Given the description of an element on the screen output the (x, y) to click on. 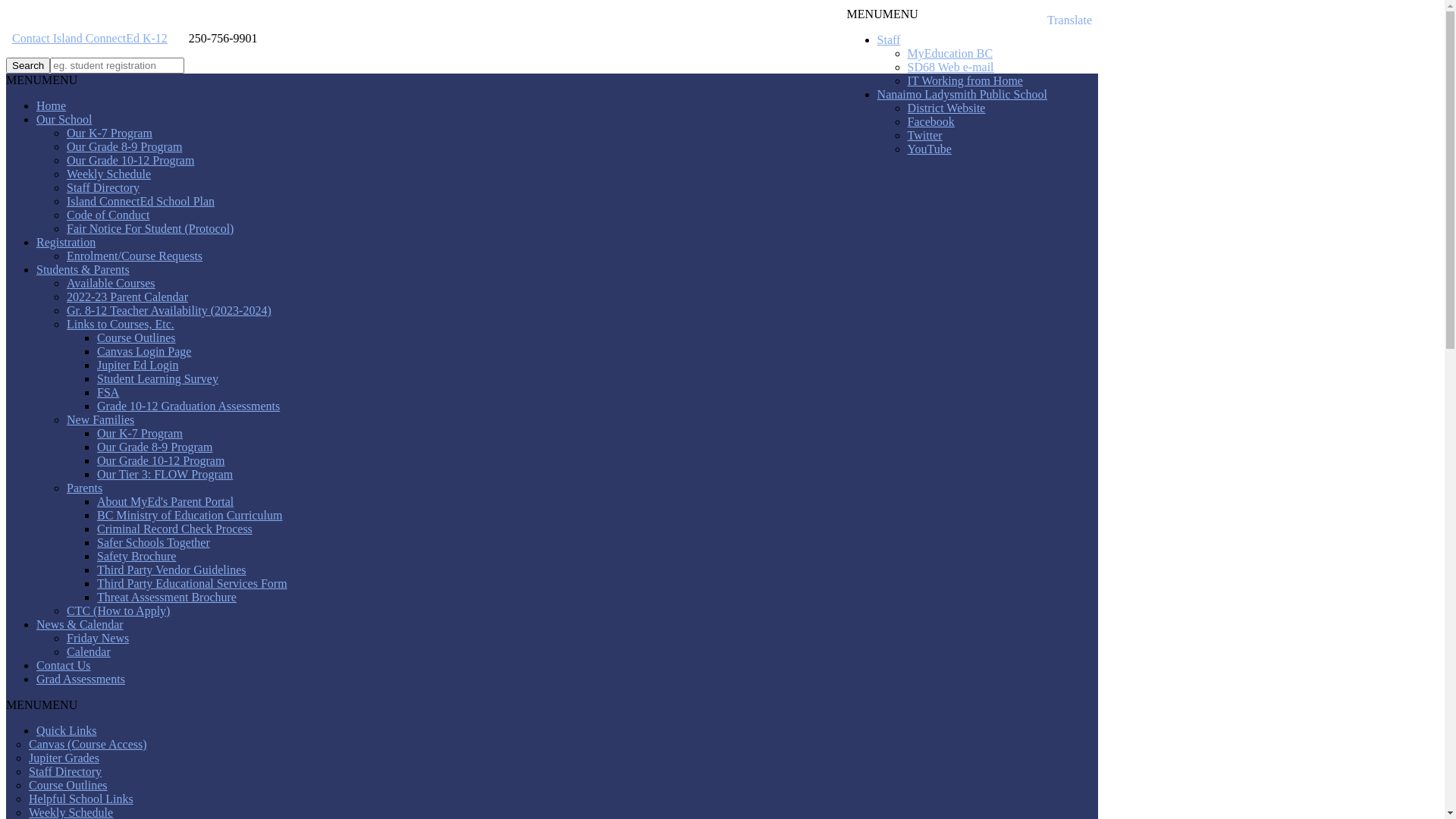
Helpful School Links Element type: text (80, 798)
Registration Element type: text (65, 241)
District Website Element type: text (946, 107)
Safer Schools Together Element type: text (153, 542)
News & Calendar Element type: text (79, 624)
Links to Courses, Etc. Element type: text (120, 323)
Fair Notice For Student (Protocol) Element type: text (149, 228)
Contact Us Element type: text (63, 664)
Friday News Element type: text (97, 637)
Facebook Element type: text (930, 121)
Safety Brochure Element type: text (136, 555)
Nanaimo Ladysmith Public School Element type: text (962, 93)
YouTube Element type: text (929, 148)
Quick Links Element type: text (66, 730)
About MyEd's Parent Portal Element type: text (165, 501)
Staff Directory Element type: text (64, 771)
CTC (How to Apply) Element type: text (117, 610)
Enrolment/Course Requests Element type: text (134, 255)
IT Working from Home Element type: text (964, 80)
Students & Parents Element type: text (82, 269)
FSA Element type: text (108, 391)
Third Party Educational Services Form Element type: text (192, 583)
New Families Element type: text (100, 419)
SD68 Web e-mail Element type: text (950, 66)
Grad Assessments Element type: text (80, 678)
Our Grade 8-9 Program Element type: text (124, 146)
Twitter Element type: text (924, 134)
Island ConnectEd School Plan Element type: text (140, 200)
Staff Directory Element type: text (102, 187)
Our K-7 Program Element type: text (139, 432)
MyEducation BC Element type: text (949, 53)
Translate   Element type: text (1072, 20)
Home Element type: text (50, 105)
Jupiter Ed Login Element type: text (137, 364)
2022-23 Parent Calendar Element type: text (127, 296)
Weekly Schedule Element type: text (108, 173)
Course Outlines Element type: text (67, 784)
Third Party Vendor Guidelines Element type: text (171, 569)
Available Courses Element type: text (110, 282)
Grade 10-12 Graduation Assessments Element type: text (188, 405)
Student Learning Survey Element type: text (157, 378)
Code of Conduct Element type: text (107, 214)
Course Outlines Element type: text (136, 337)
Threat Assessment Brochure Element type: text (166, 596)
Our School Element type: text (63, 118)
Our Grade 8-9 Program Element type: text (154, 446)
Canvas (Course Access) Element type: text (87, 743)
Canvas Login Page Element type: text (144, 351)
Contact Island ConnectEd K-12 Element type: text (89, 37)
Search Element type: text (28, 65)
Jupiter Grades Element type: text (63, 757)
BC Ministry of Education Curriculum Element type: text (189, 514)
Our Grade 10-12 Program Element type: text (160, 460)
Gr. 8-12 Teacher Availability (2023-2024) Element type: text (168, 310)
Parents Element type: text (84, 487)
Our Tier 3: FLOW Program Element type: text (164, 473)
Criminal Record Check Process Element type: text (174, 528)
Staff Element type: text (888, 39)
Our Grade 10-12 Program Element type: text (130, 159)
Calendar Element type: text (88, 651)
Our K-7 Program Element type: text (109, 132)
